Given the description of an element on the screen output the (x, y) to click on. 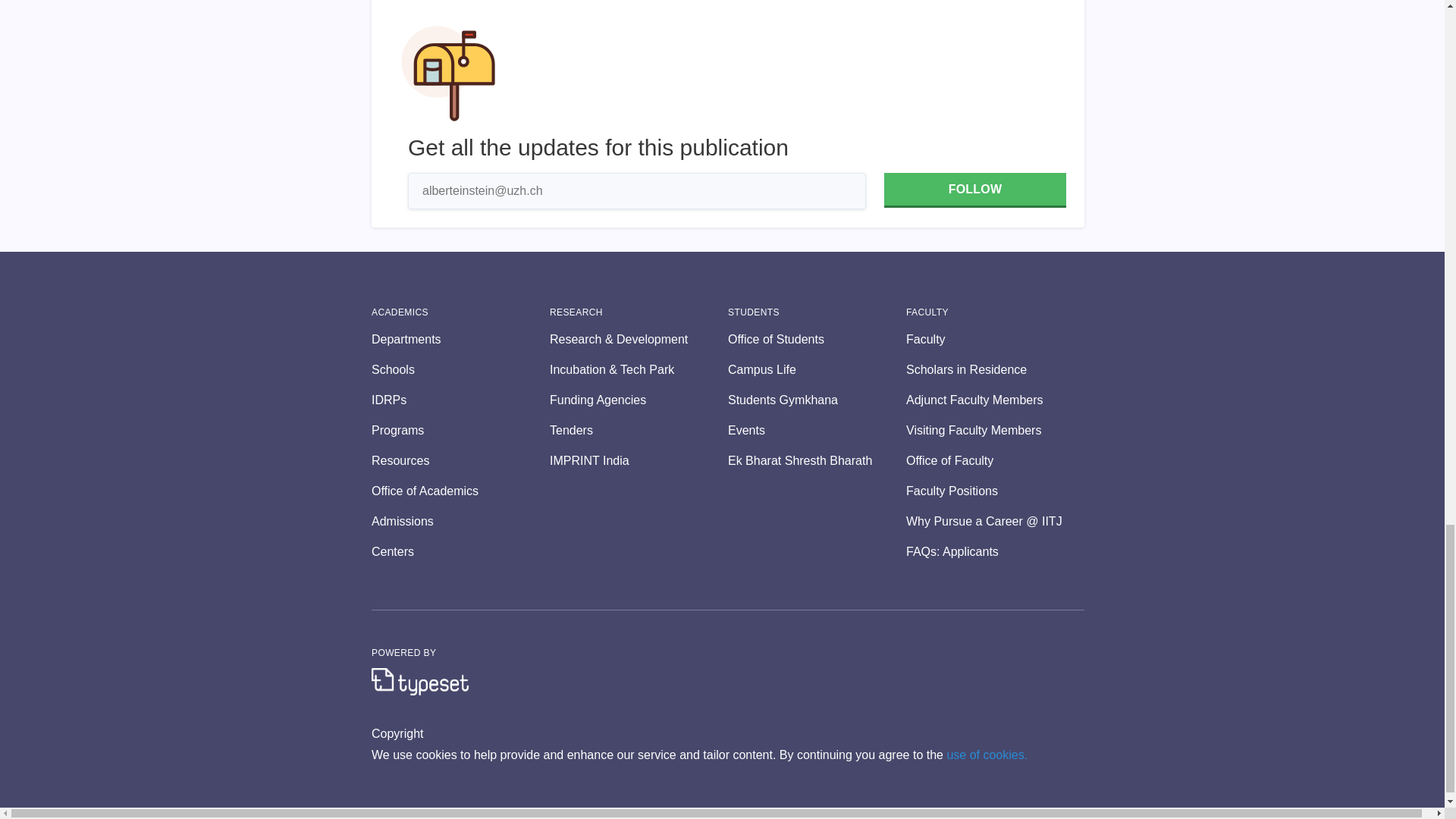
Centers (460, 551)
Resources (460, 461)
Subscribe form hero illustration (448, 73)
Departments (460, 339)
Programs (460, 430)
Schools (460, 370)
Logo of Typeset (419, 681)
IDRPs (460, 400)
Admissions (460, 521)
FOLLOW (974, 190)
